Given the description of an element on the screen output the (x, y) to click on. 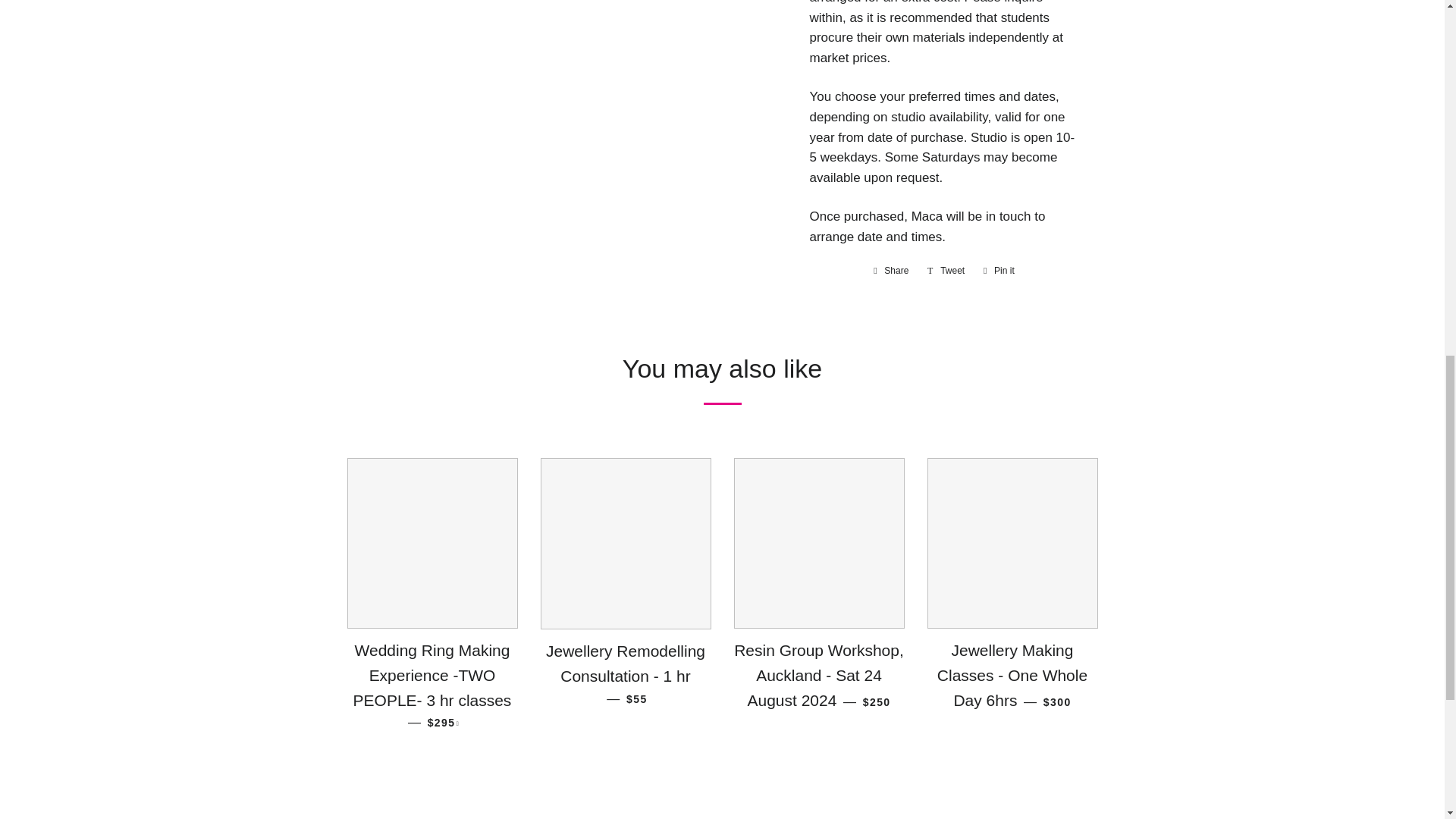
Tweet on Twitter (946, 270)
Share on Facebook (890, 270)
Pin on Pinterest (998, 270)
